Given the description of an element on the screen output the (x, y) to click on. 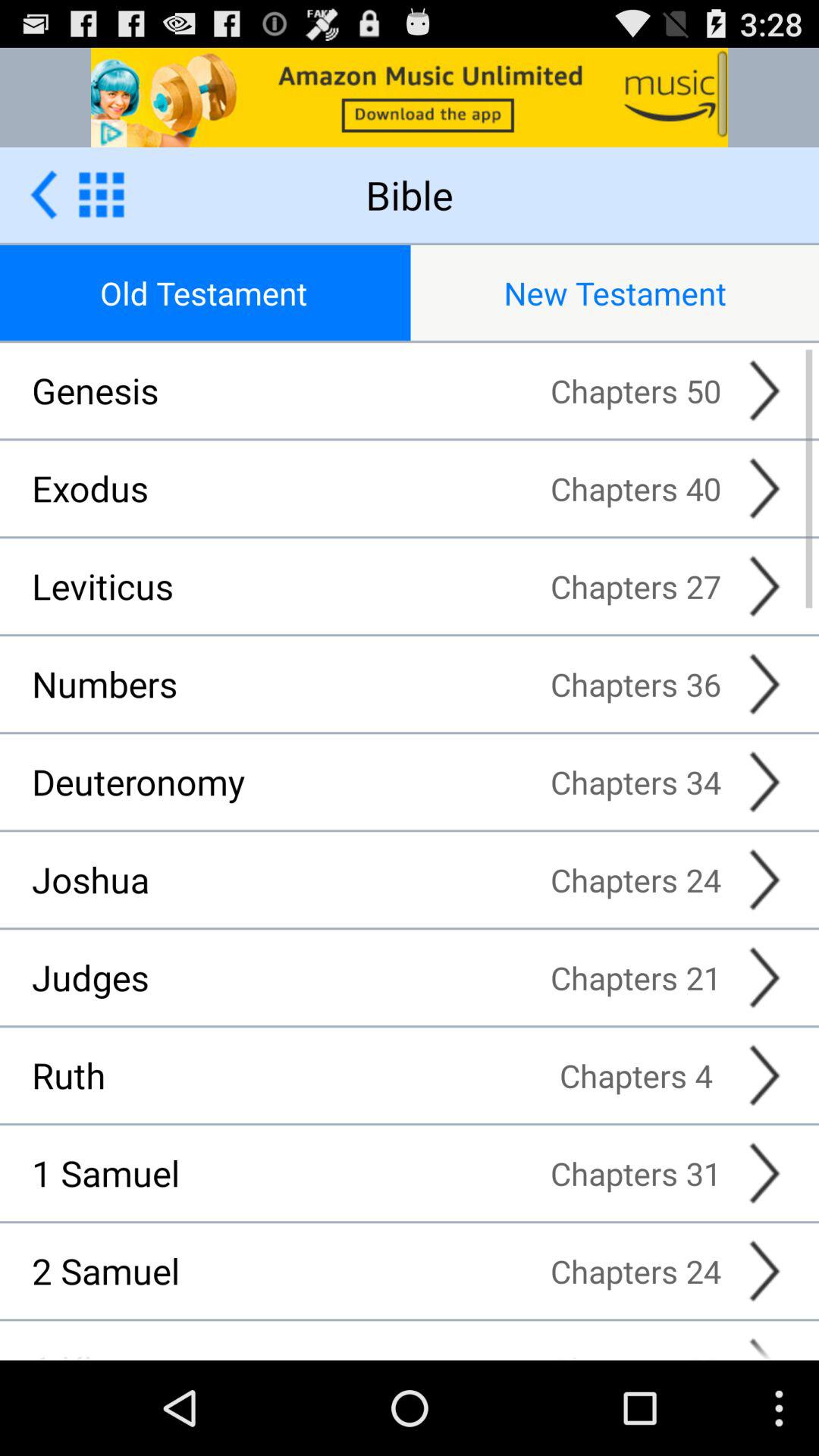
go to advertisement (43, 194)
